Given the description of an element on the screen output the (x, y) to click on. 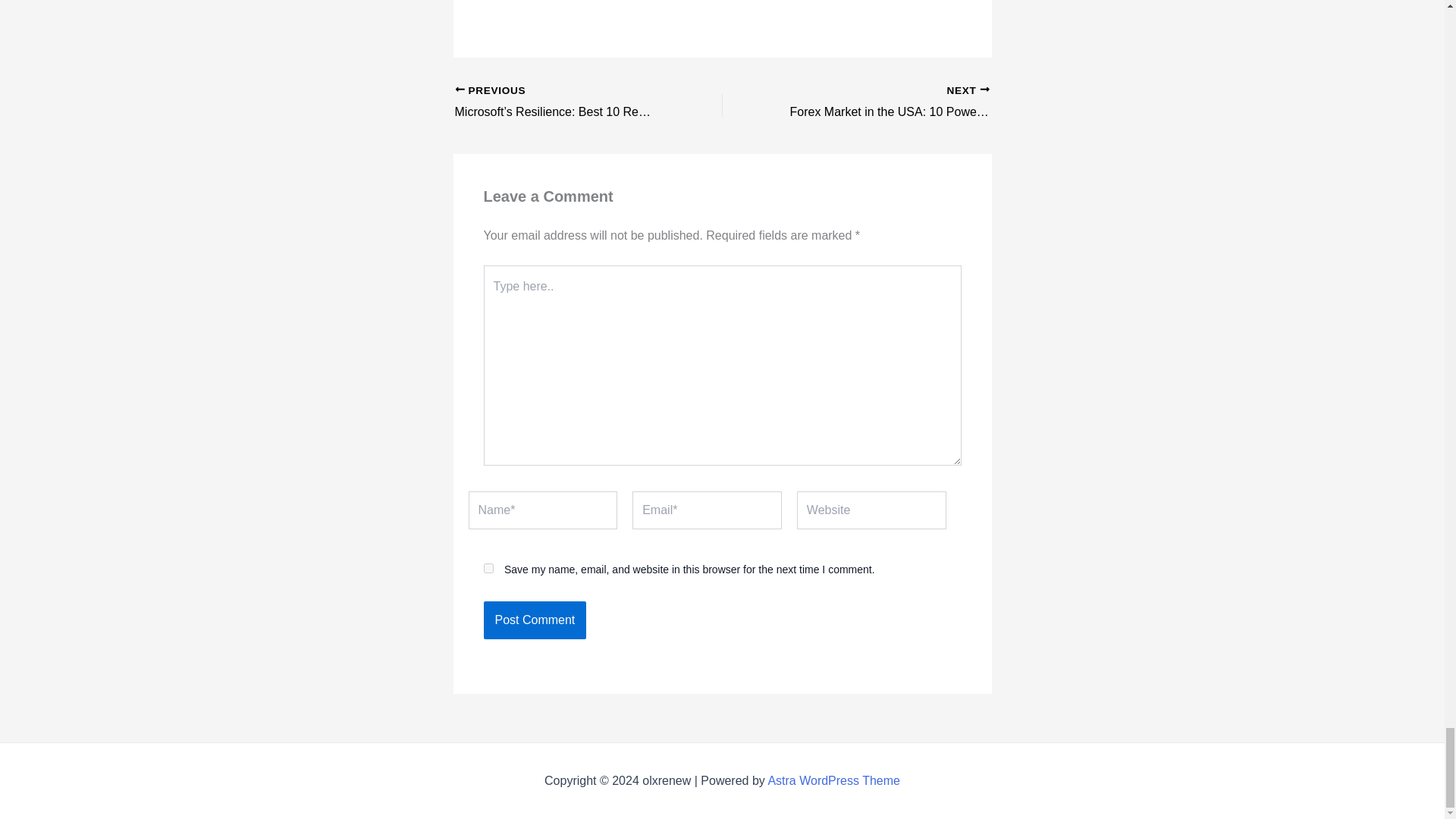
yes (488, 568)
Forex Market in the USA: 10 Powerful Insights for Traders (882, 102)
Astra WordPress Theme (833, 780)
Post Comment (534, 620)
Post Comment (534, 620)
